Given the description of an element on the screen output the (x, y) to click on. 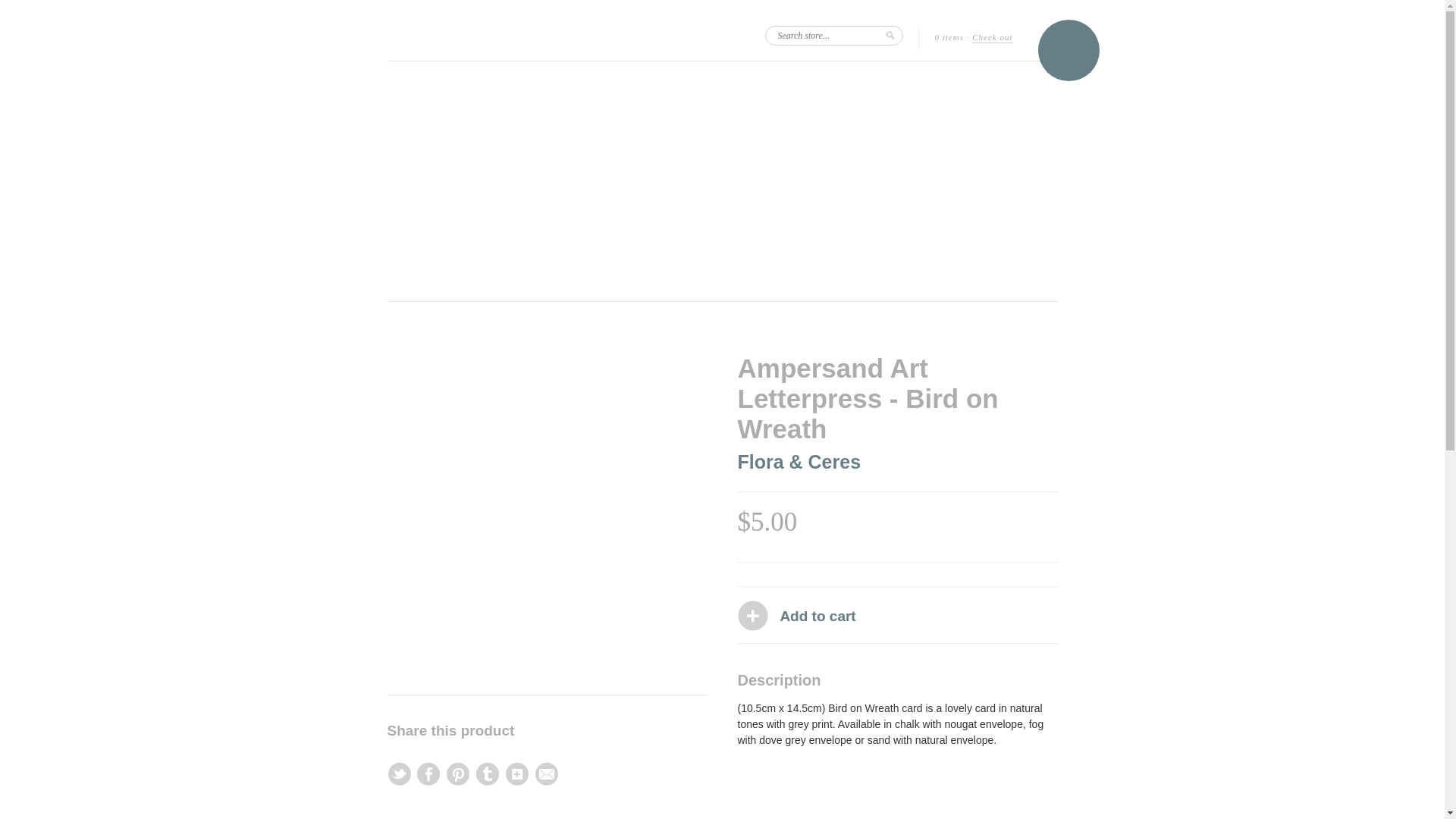
Add to cart Element type: text (817, 616)
0 items Element type: text (948, 37)
Flora & Ceres Element type: text (798, 461)
Check out Element type: text (992, 37)
